Given the description of an element on the screen output the (x, y) to click on. 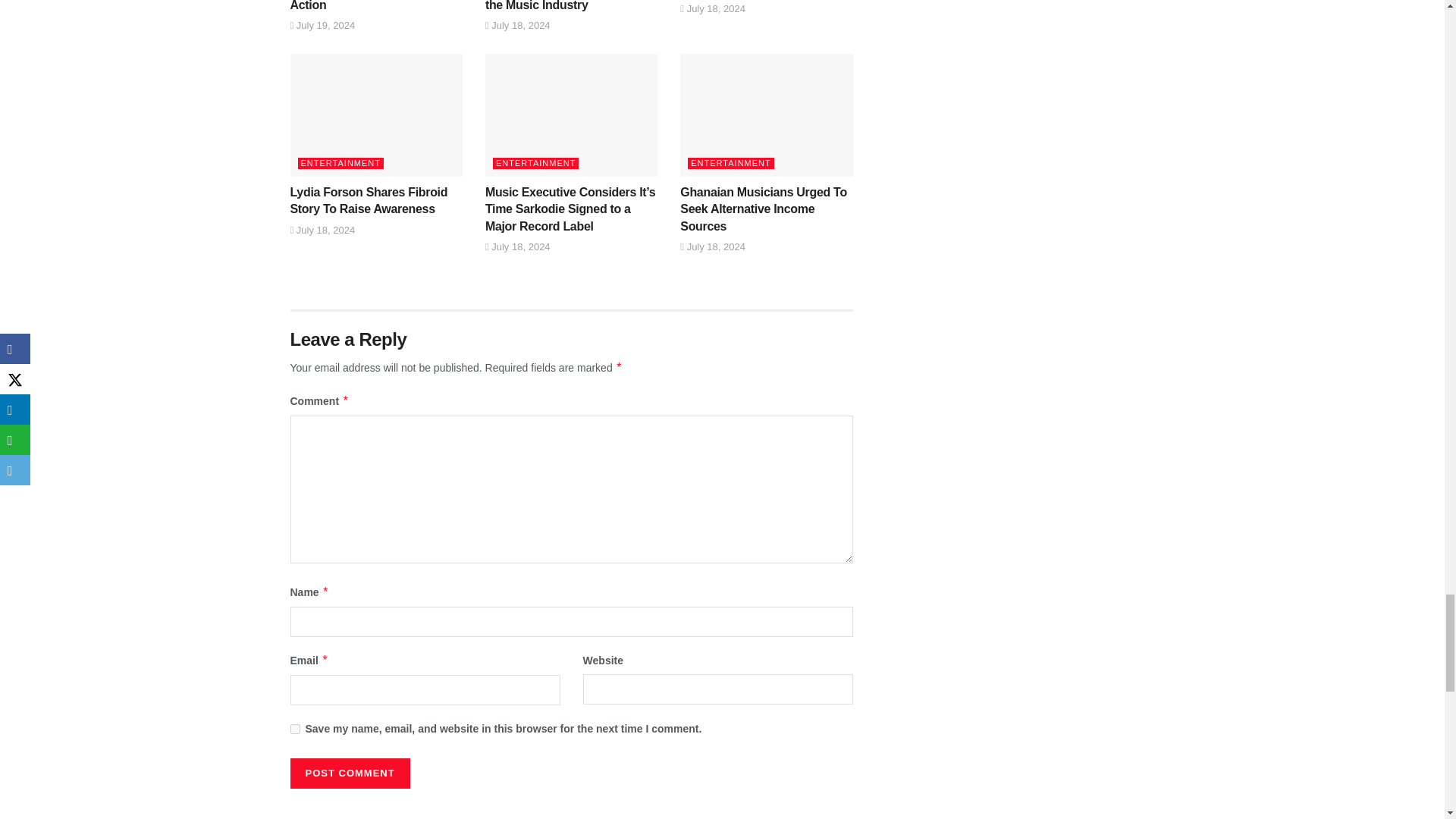
yes (294, 728)
Post Comment (349, 773)
